Given the description of an element on the screen output the (x, y) to click on. 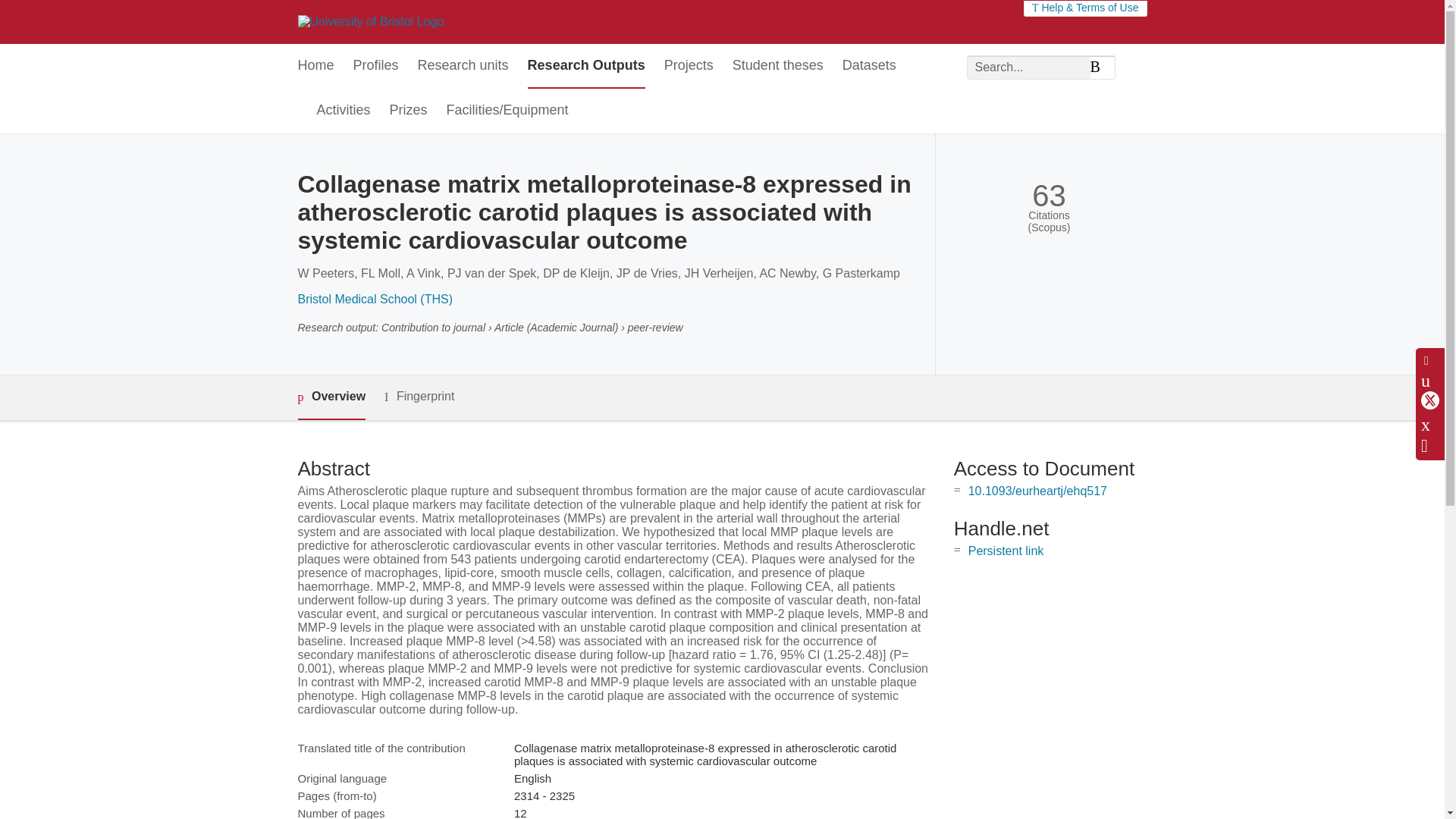
Overview (331, 397)
Profiles (375, 66)
Research units (462, 66)
Persistent link (1005, 550)
University of Bristol Home (370, 21)
Research Outputs (586, 66)
Student theses (778, 66)
Datasets (869, 66)
Activities (344, 110)
Projects (688, 66)
Fingerprint (419, 396)
